Given the description of an element on the screen output the (x, y) to click on. 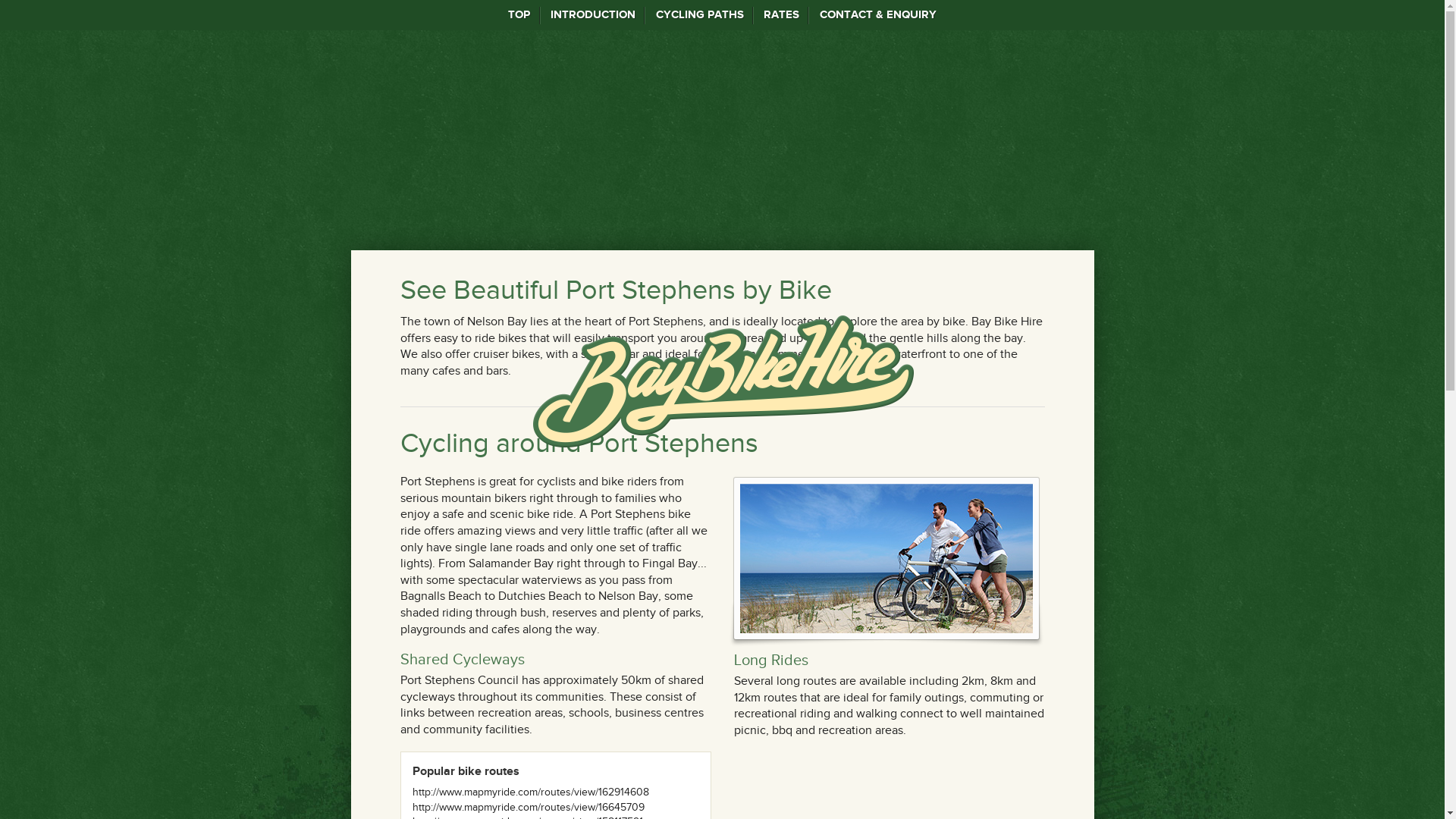
http://www.mapmyride.com/routes/view/16645709 Element type: text (528, 806)
CONTACT & ENQUIRY Element type: text (877, 15)
CYCLING PATHS Element type: text (699, 15)
http://www.mapmyride.com/routes/view/162914608 Element type: text (530, 791)
TOP Element type: text (519, 15)
INTRODUCTION Element type: text (593, 15)
RATES Element type: text (781, 15)
